Given the description of an element on the screen output the (x, y) to click on. 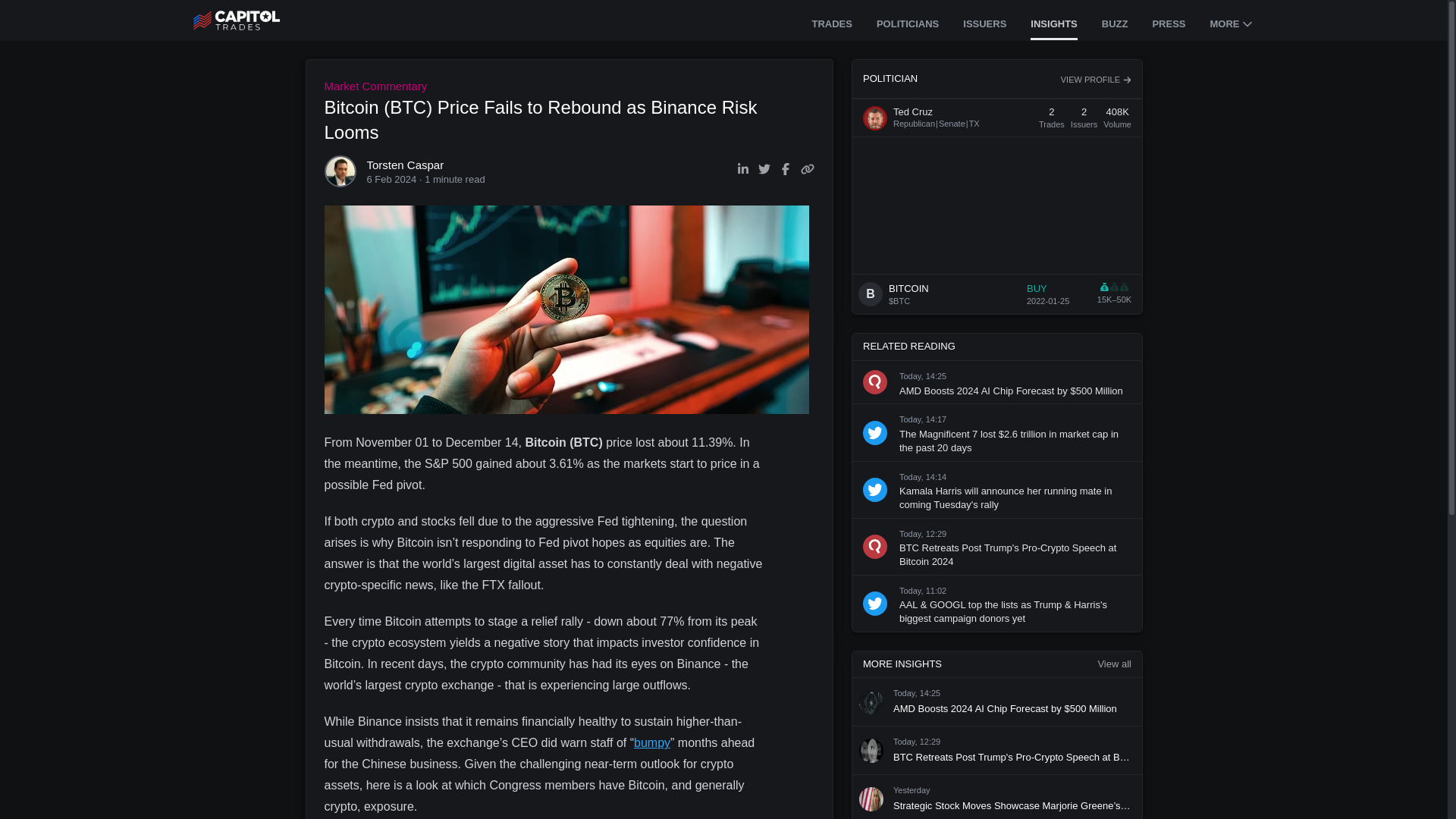
2024-07-31 12:29:14 (922, 533)
2024-07-31 14:14:56 (922, 476)
2022-01-25 00:00:00 (1047, 300)
View all (1114, 663)
ISSUERS (984, 25)
POLITICIANS (907, 25)
PRESS (996, 118)
bumpy (1168, 25)
VIEW PROFILE (651, 742)
2024-07-31 12:29:14 (1095, 79)
2024-07-31 11:02:18 (916, 741)
TRADES (922, 590)
